Given the description of an element on the screen output the (x, y) to click on. 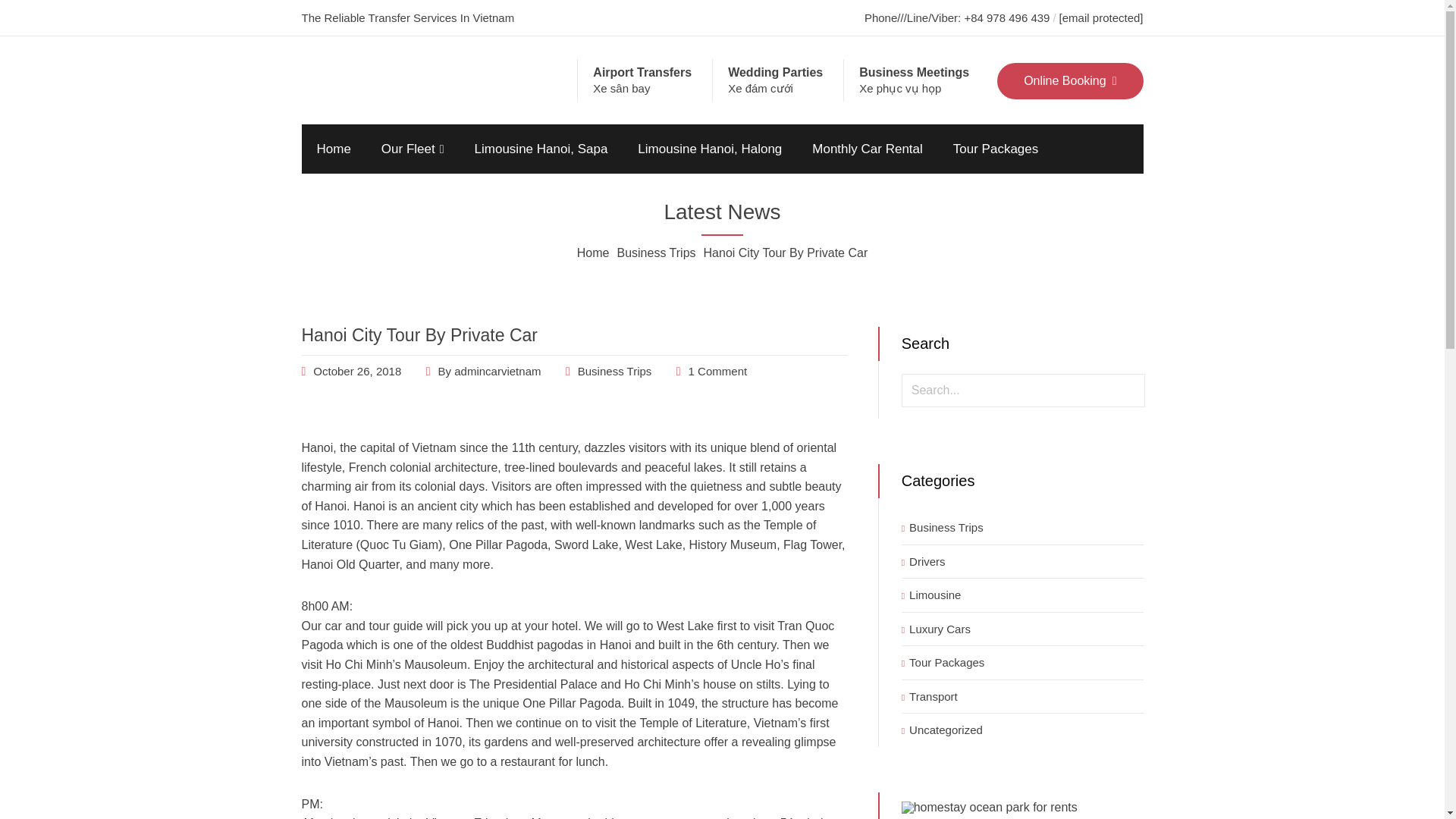
October 26, 2018 (357, 370)
Tour Packages (994, 148)
Hanoi City Tour By Private Car (419, 334)
Home (333, 148)
Hanoi City Tour By Private Car (419, 334)
Business Trips (655, 252)
Limousine Hanoi, Sapa (541, 148)
Hanoi City Tour By Private Car (357, 370)
Our Fleet (413, 148)
Monthly Car Rental (866, 148)
